Given the description of an element on the screen output the (x, y) to click on. 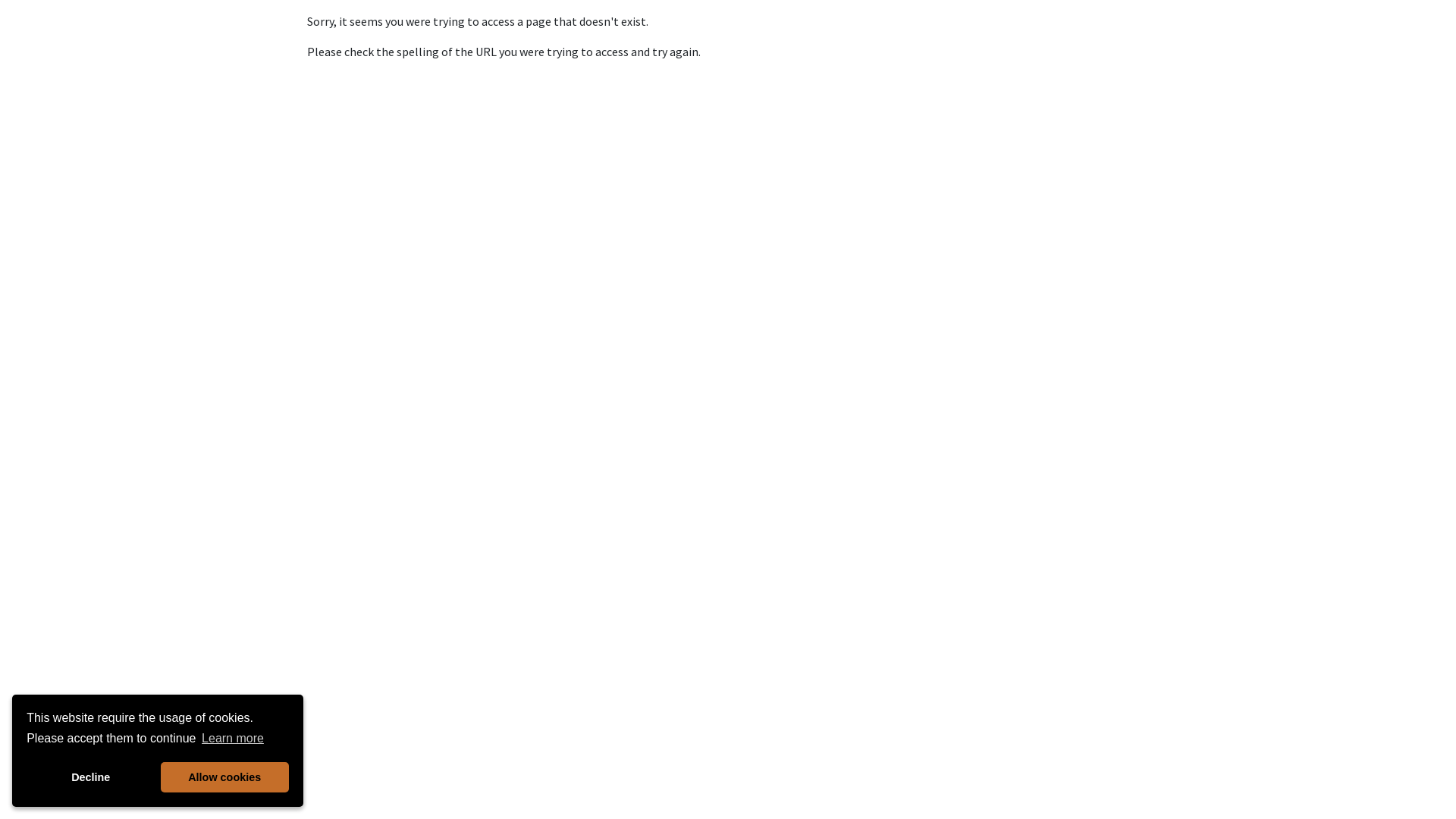
Decline Element type: text (90, 777)
Allow cookies Element type: text (224, 777)
Learn more Element type: text (232, 738)
